Given the description of an element on the screen output the (x, y) to click on. 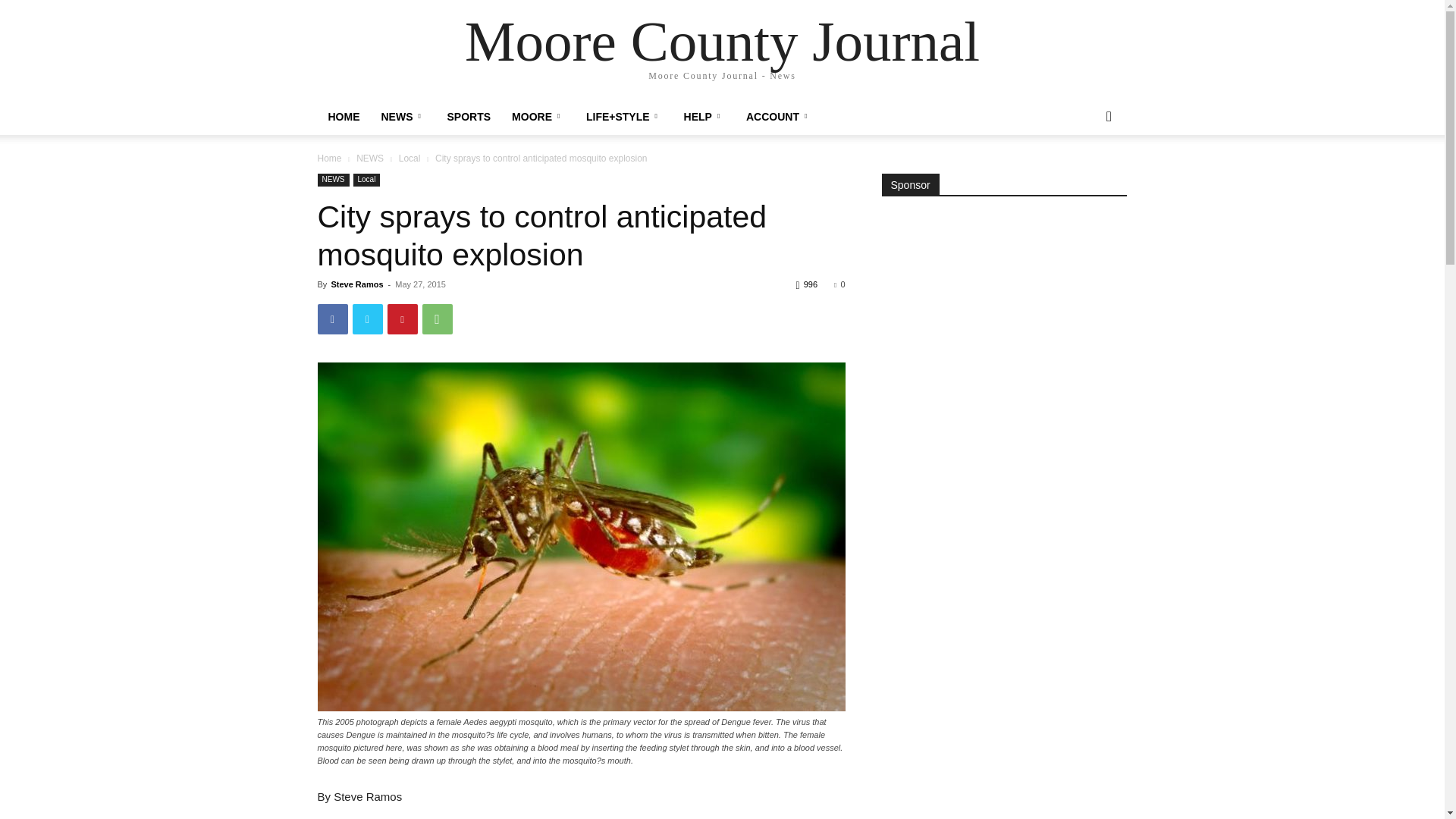
NEWS (333, 179)
Local (409, 158)
Facebook (332, 318)
HELP (703, 116)
ACCOUNT (778, 116)
Home (328, 158)
SPORTS (469, 116)
View all posts in NEWS (370, 158)
View all posts in Local (409, 158)
HOME (343, 116)
Moore County Journal (721, 41)
Twitter (366, 318)
NEWS (370, 158)
Search (1085, 177)
MOORE (537, 116)
